Given the description of an element on the screen output the (x, y) to click on. 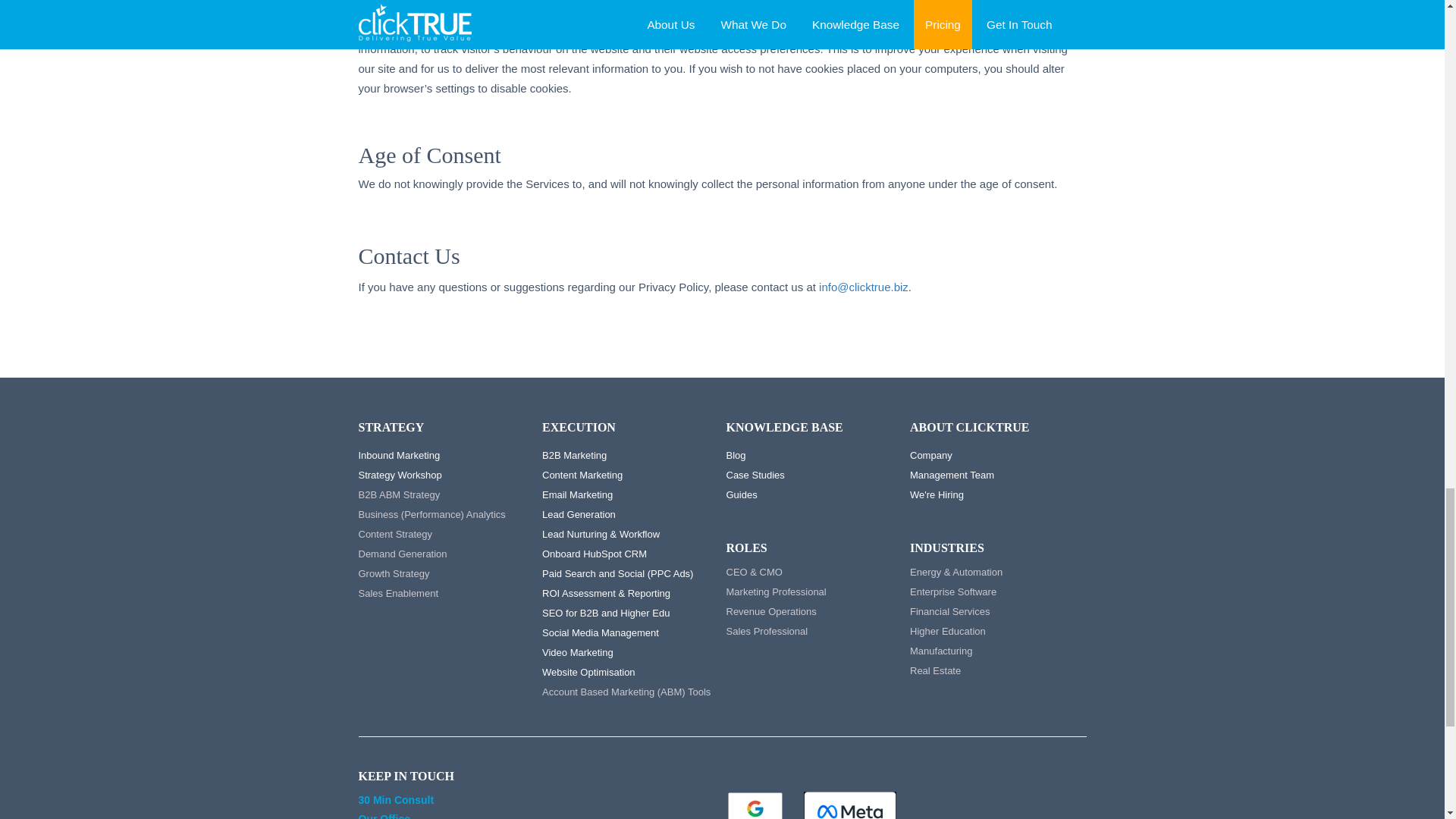
Content Marketing (582, 474)
Strategy Workshop (399, 474)
Lead Generation (578, 514)
Email Marketing (576, 494)
B2B Marketing (574, 455)
Inbound Marketing (398, 455)
